Given the description of an element on the screen output the (x, y) to click on. 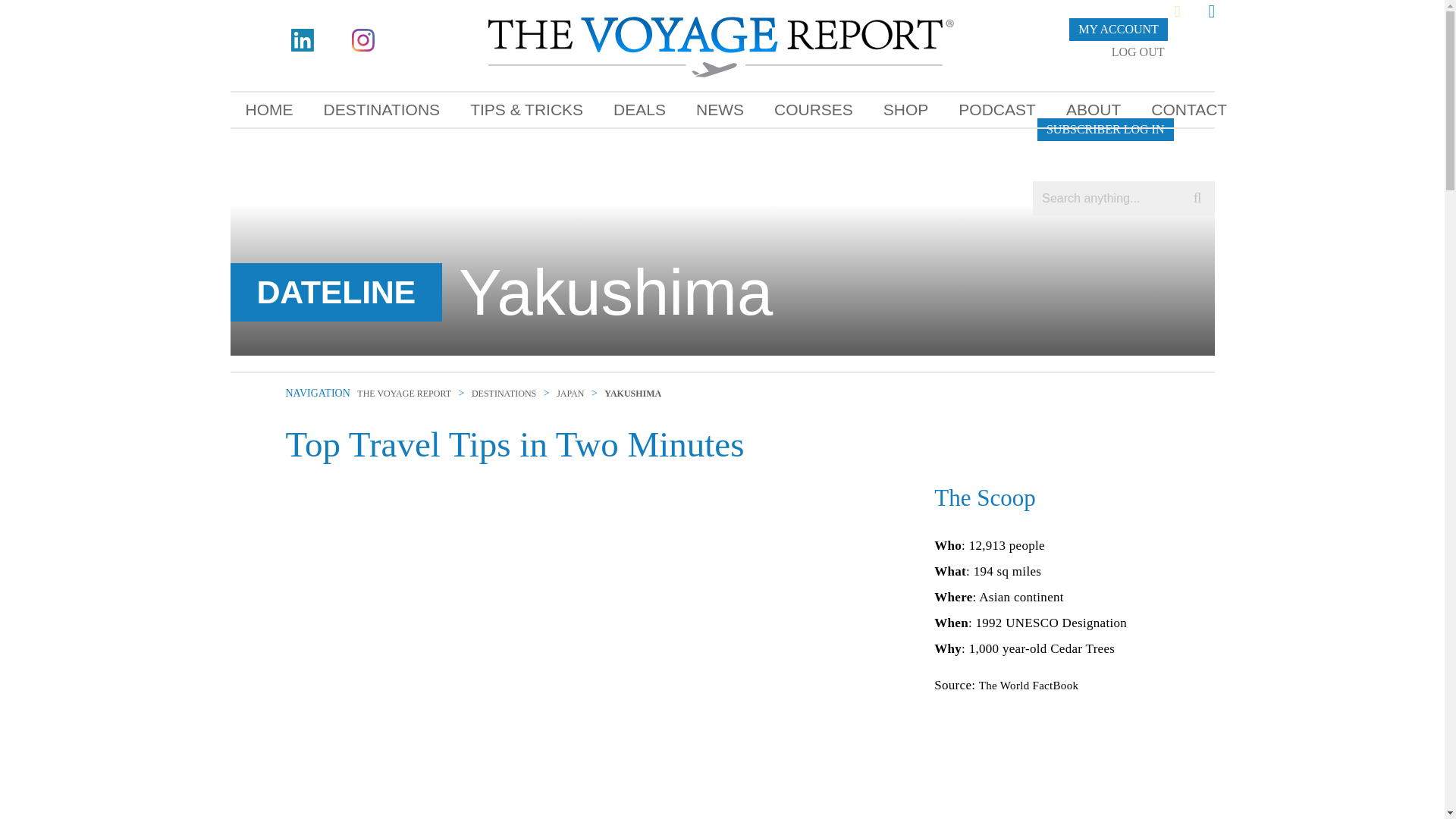
MY ACCOUNT (1117, 29)
Go to The Voyage Report. (403, 393)
THE VOYAGE REPORT (403, 393)
HOME (269, 109)
SUBSCRIBER LOG IN (1104, 128)
COURSES (812, 109)
JAPAN (570, 393)
Go to Yakushima. (632, 393)
DEALS (639, 109)
ABOUT (1093, 109)
